Given the description of an element on the screen output the (x, y) to click on. 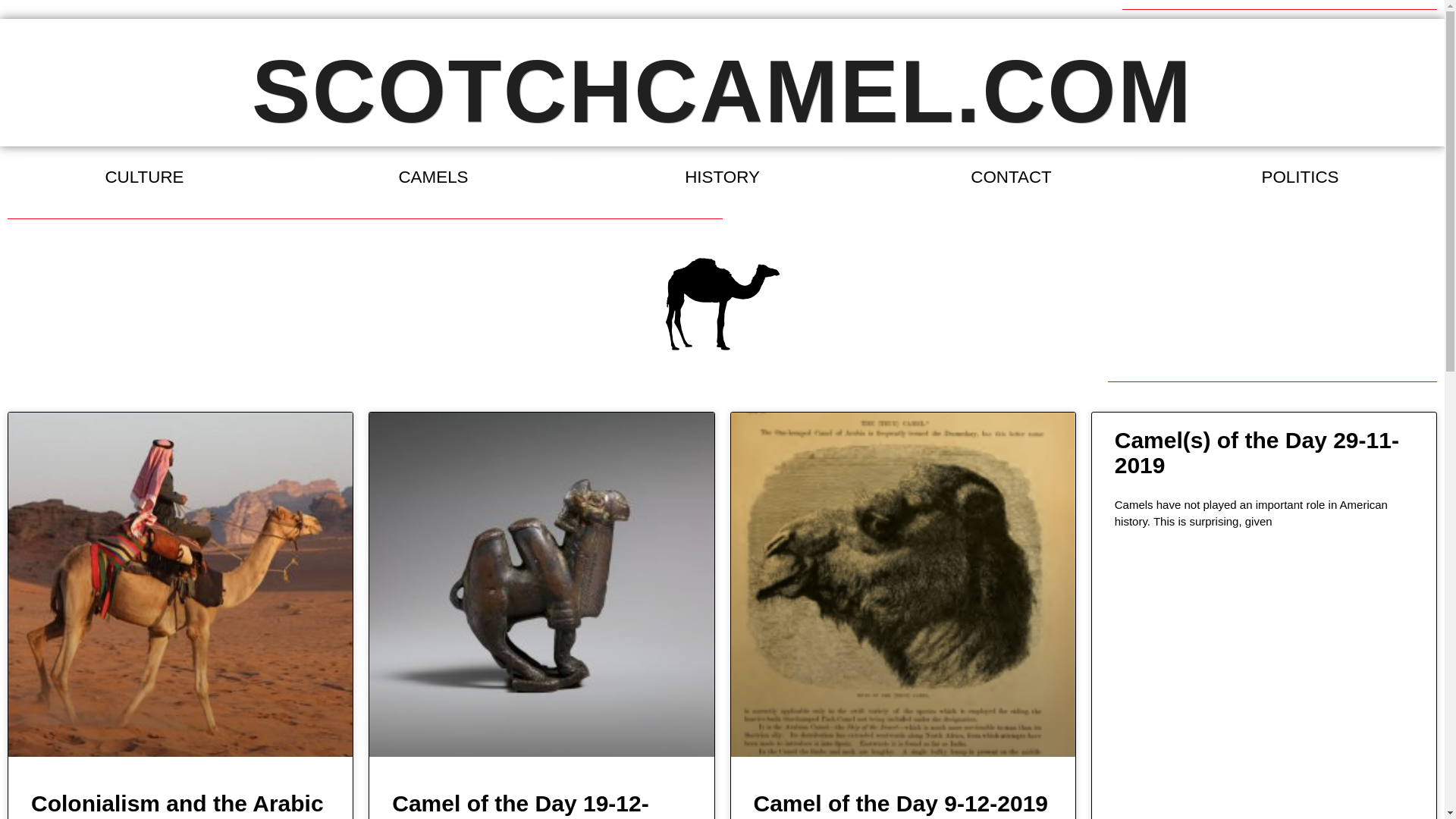
CONTACT (1011, 177)
POLITICS (1299, 177)
Camel of the Day 9-12-2019 (901, 803)
Colonialism and the Arabic Not: A Note (176, 805)
SCOTCHCAMEL.COM (721, 91)
Camel of the Day 19-12-2019 (519, 805)
CAMELS (433, 177)
HISTORY (721, 177)
CULTURE (143, 177)
